Given the description of an element on the screen output the (x, y) to click on. 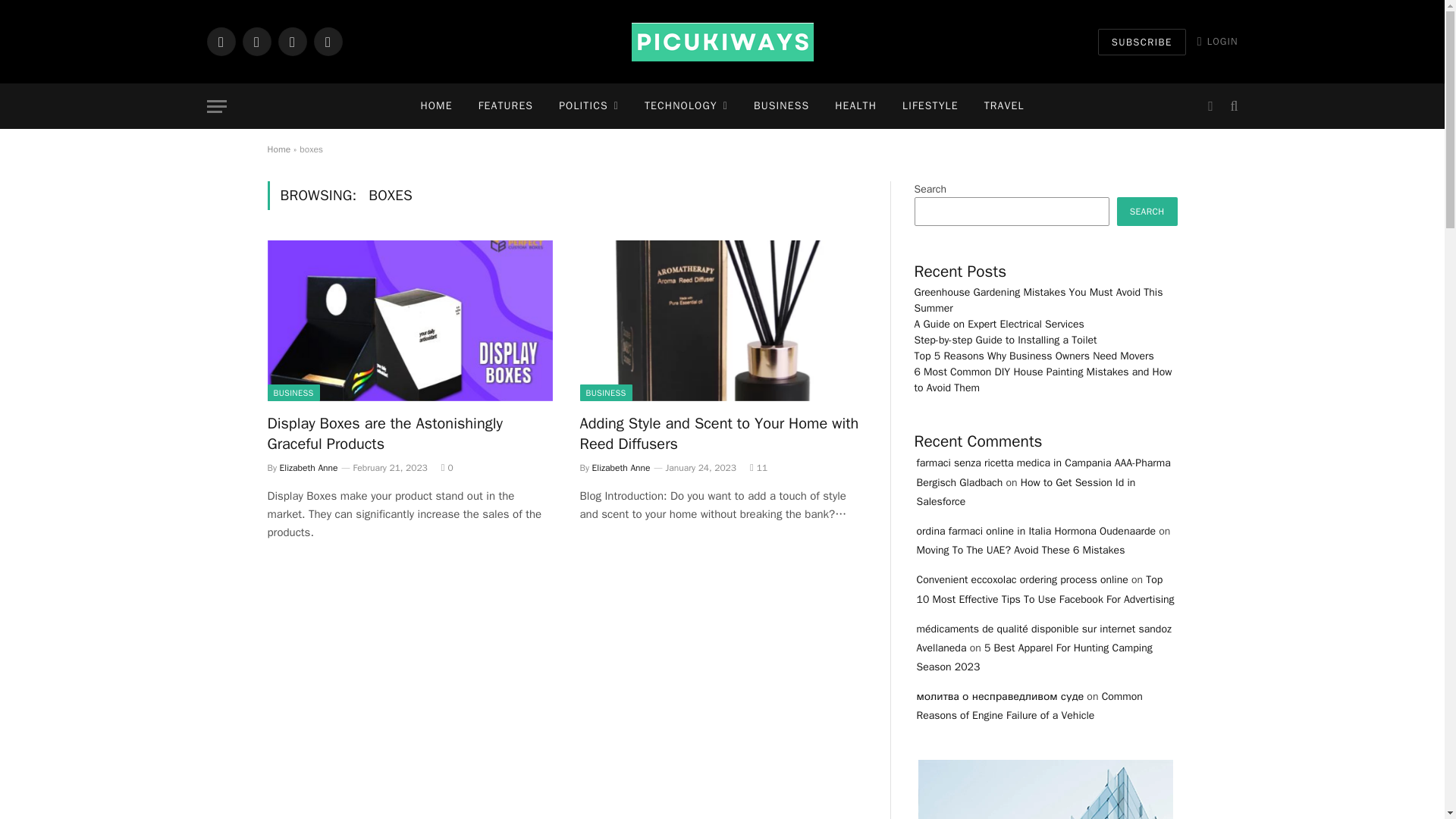
Facebook (220, 41)
BUSINESS (781, 105)
SUBSCRIBE (1141, 41)
LIFESTYLE (930, 105)
HOME (435, 105)
Switch to Dark Design - easier on eyes. (1209, 106)
Vimeo (328, 41)
Twitter (256, 41)
TECHNOLOGY (686, 105)
FEATURES (505, 105)
